Given the description of an element on the screen output the (x, y) to click on. 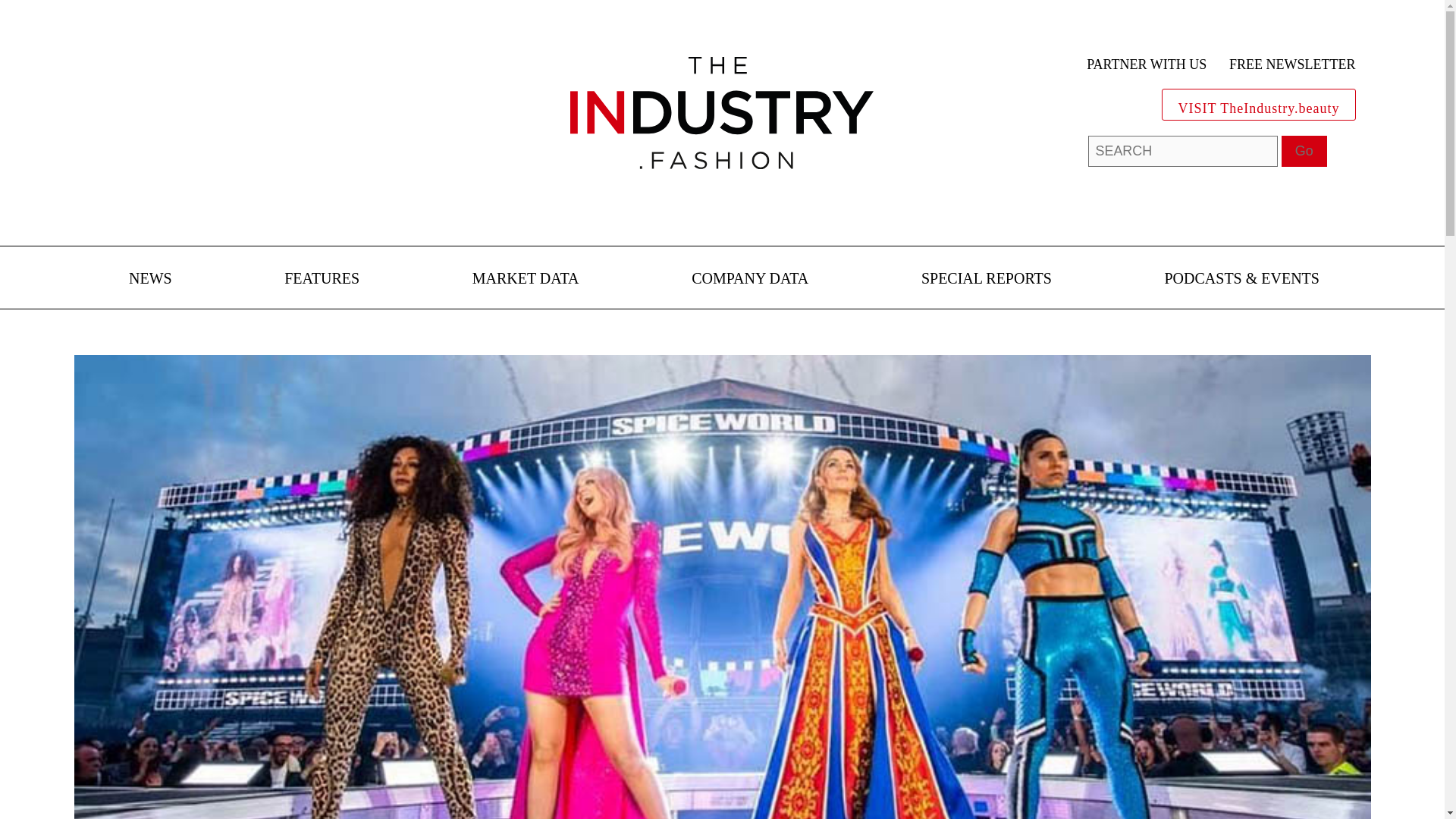
VISIT TheIndustry.beauty (1258, 104)
PARTNER WITH US (1146, 64)
NEWS (150, 279)
SPECIAL REPORTS (986, 279)
Go (1303, 151)
COMPANY DATA (749, 279)
Go (1303, 151)
FREE NEWSLETTER (1291, 64)
MARKET DATA (525, 279)
FEATURES (321, 279)
